Given the description of an element on the screen output the (x, y) to click on. 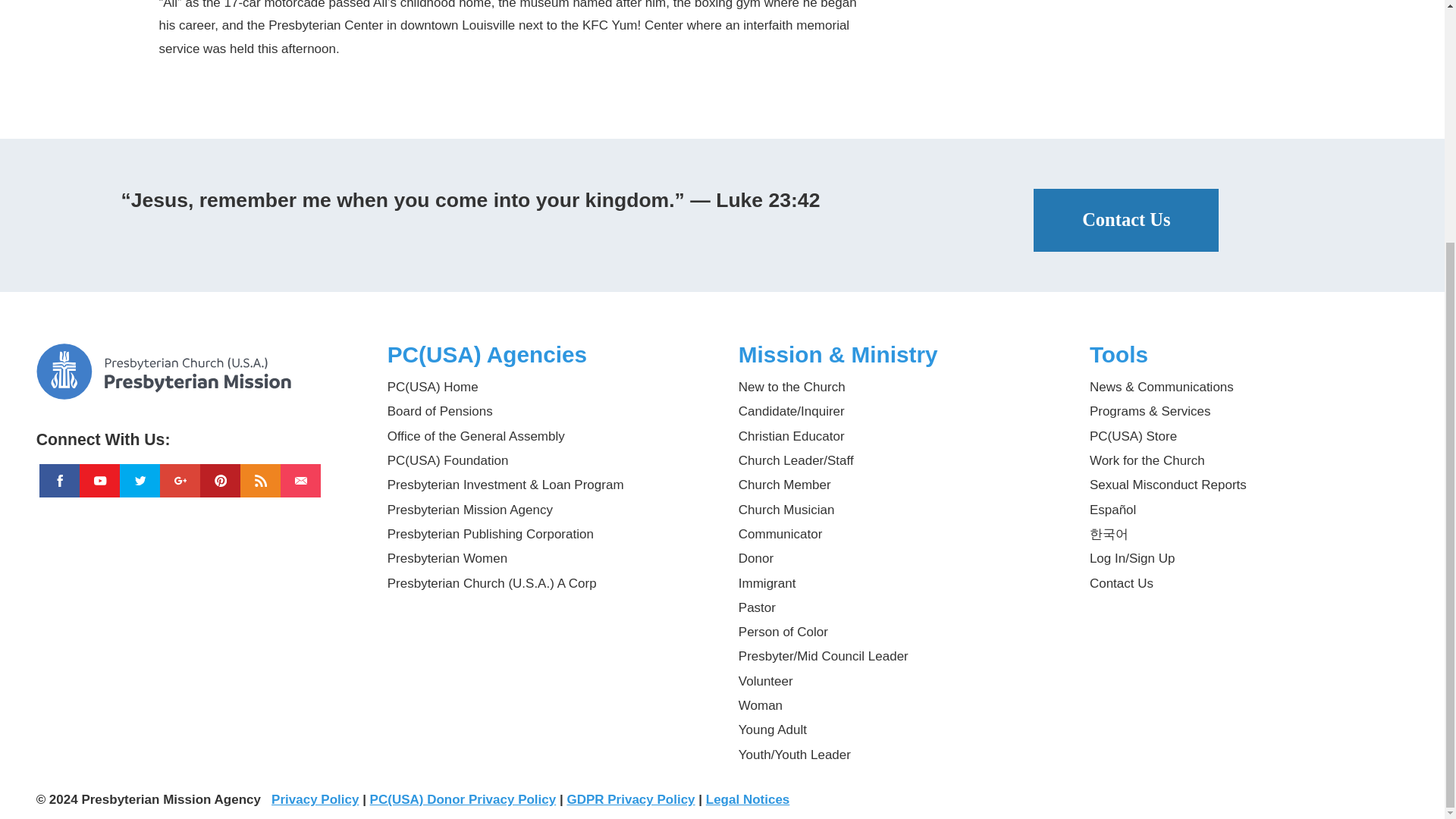
Follow Us on Social Media (195, 433)
